Given the description of an element on the screen output the (x, y) to click on. 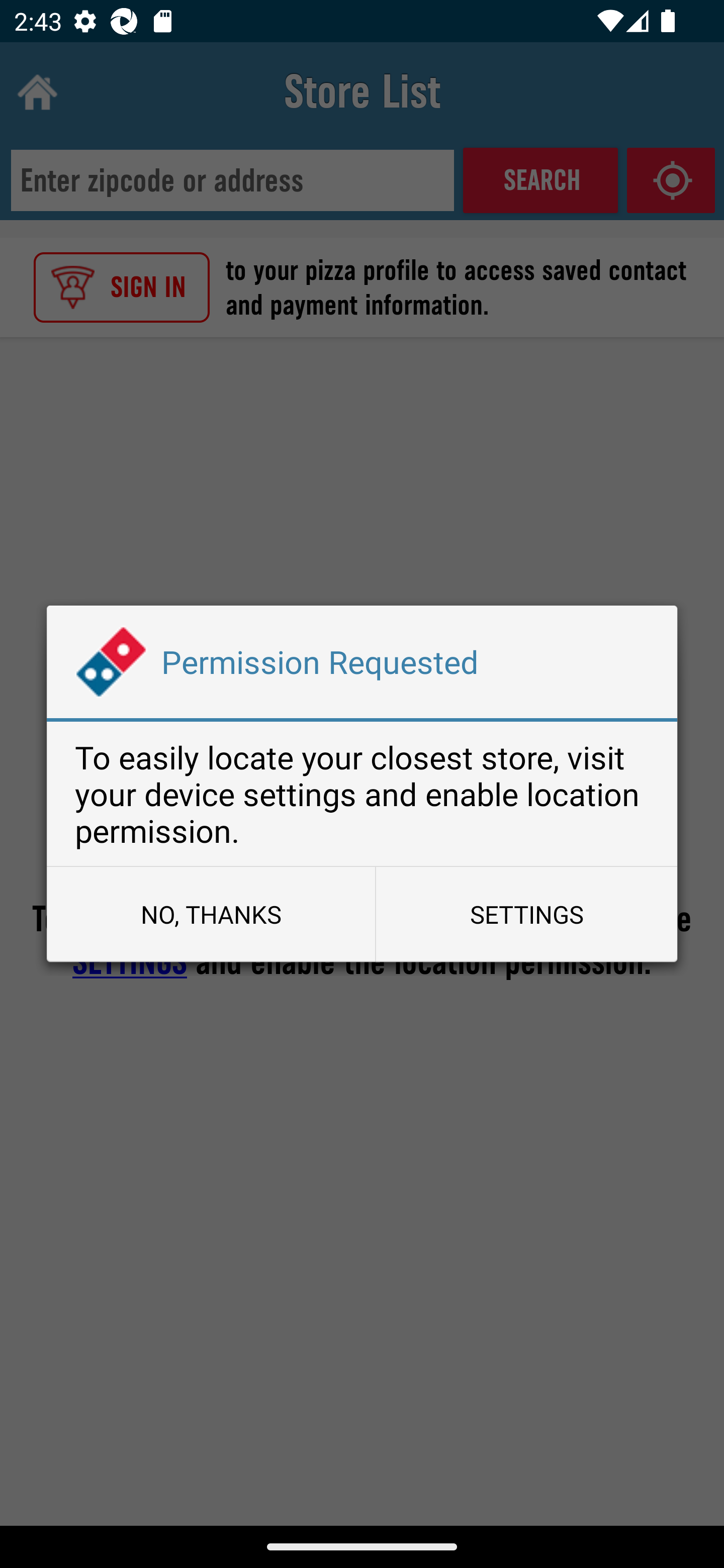
NO, THANKS (211, 914)
SETTINGS (525, 914)
